Given the description of an element on the screen output the (x, y) to click on. 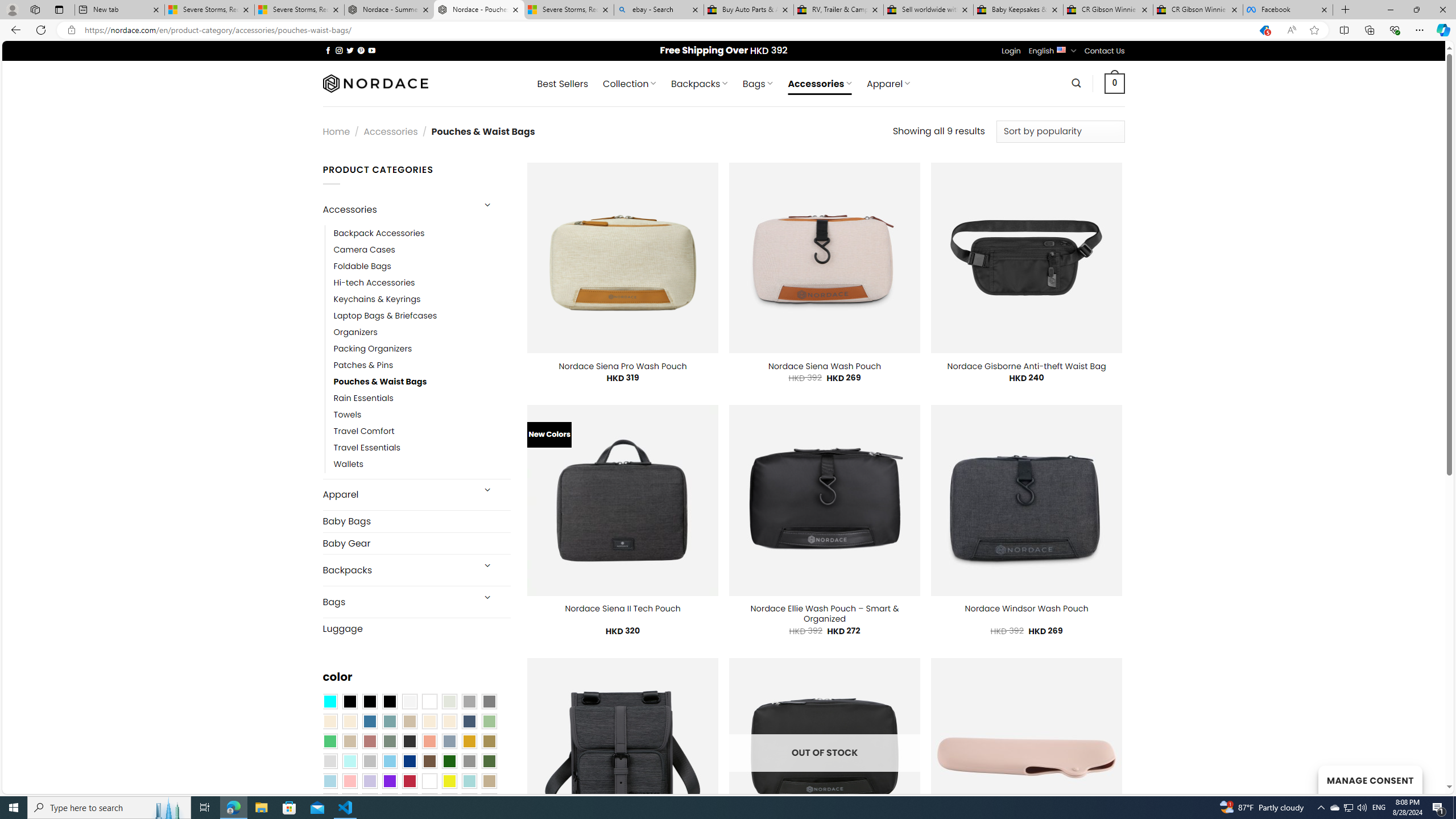
Light Gray (329, 761)
Home (335, 131)
Packing Organizers (372, 348)
Red (408, 780)
Black-Brown (389, 701)
Hale Navy (468, 721)
Wallets (348, 464)
Brownie (408, 721)
Contact Us (1104, 50)
Luggage (416, 628)
